Given the description of an element on the screen output the (x, y) to click on. 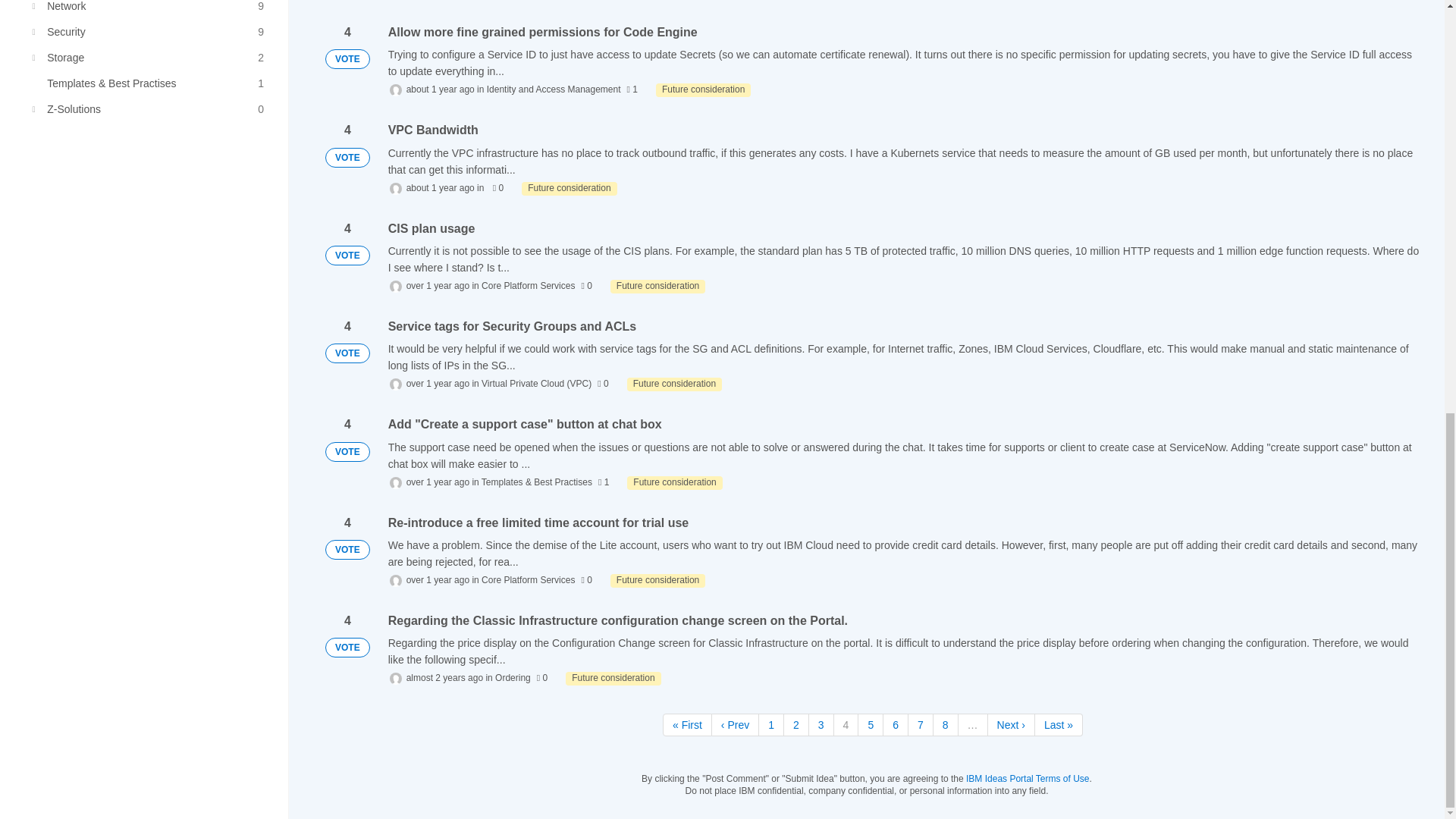
Future consideration (674, 384)
Future consideration (657, 286)
Future consideration (657, 581)
Future consideration (703, 90)
Future consideration (674, 482)
Future consideration (613, 678)
Future consideration (568, 188)
